Given the description of an element on the screen output the (x, y) to click on. 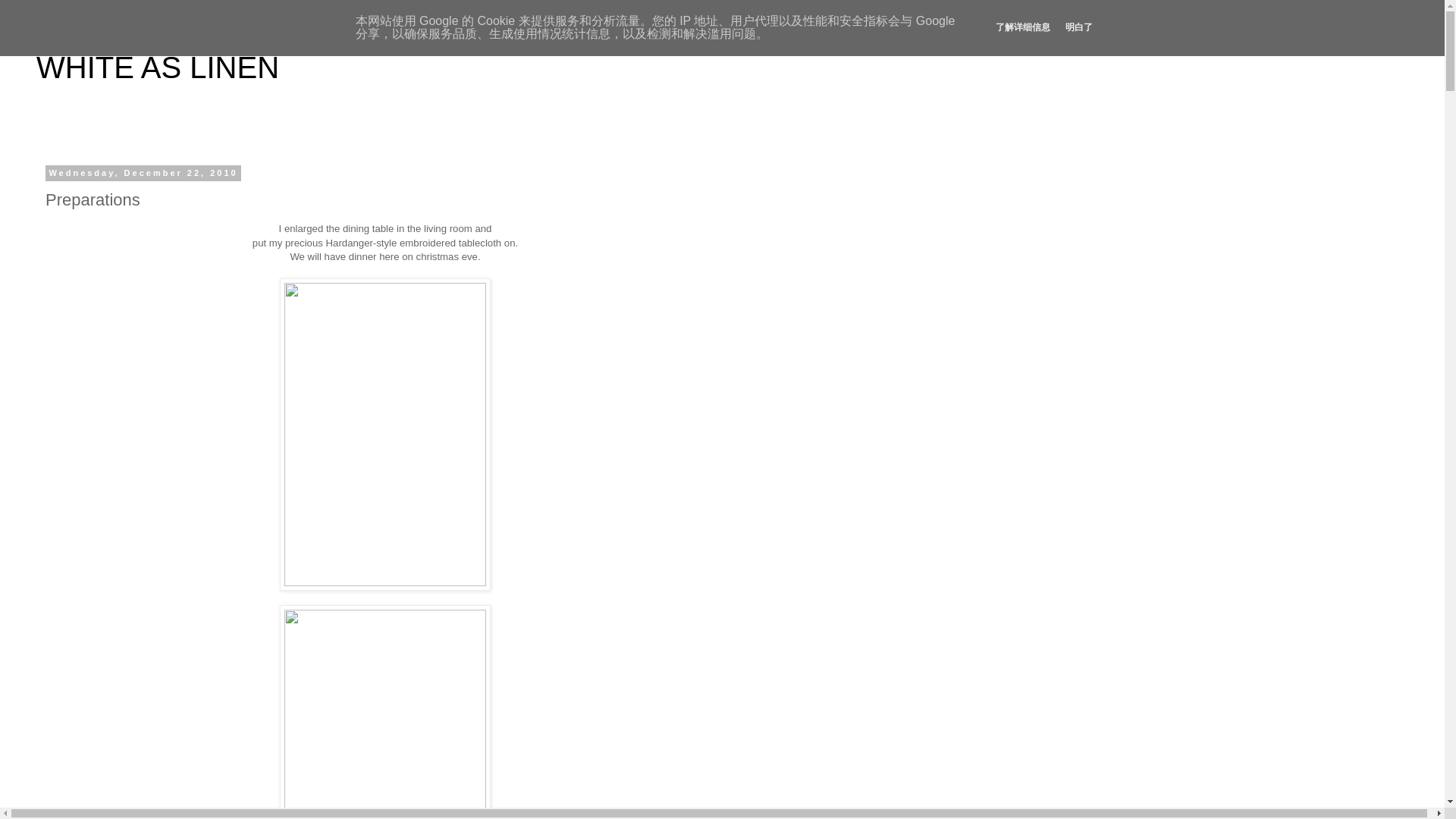
WHITE AS LINEN (157, 67)
